Given the description of an element on the screen output the (x, y) to click on. 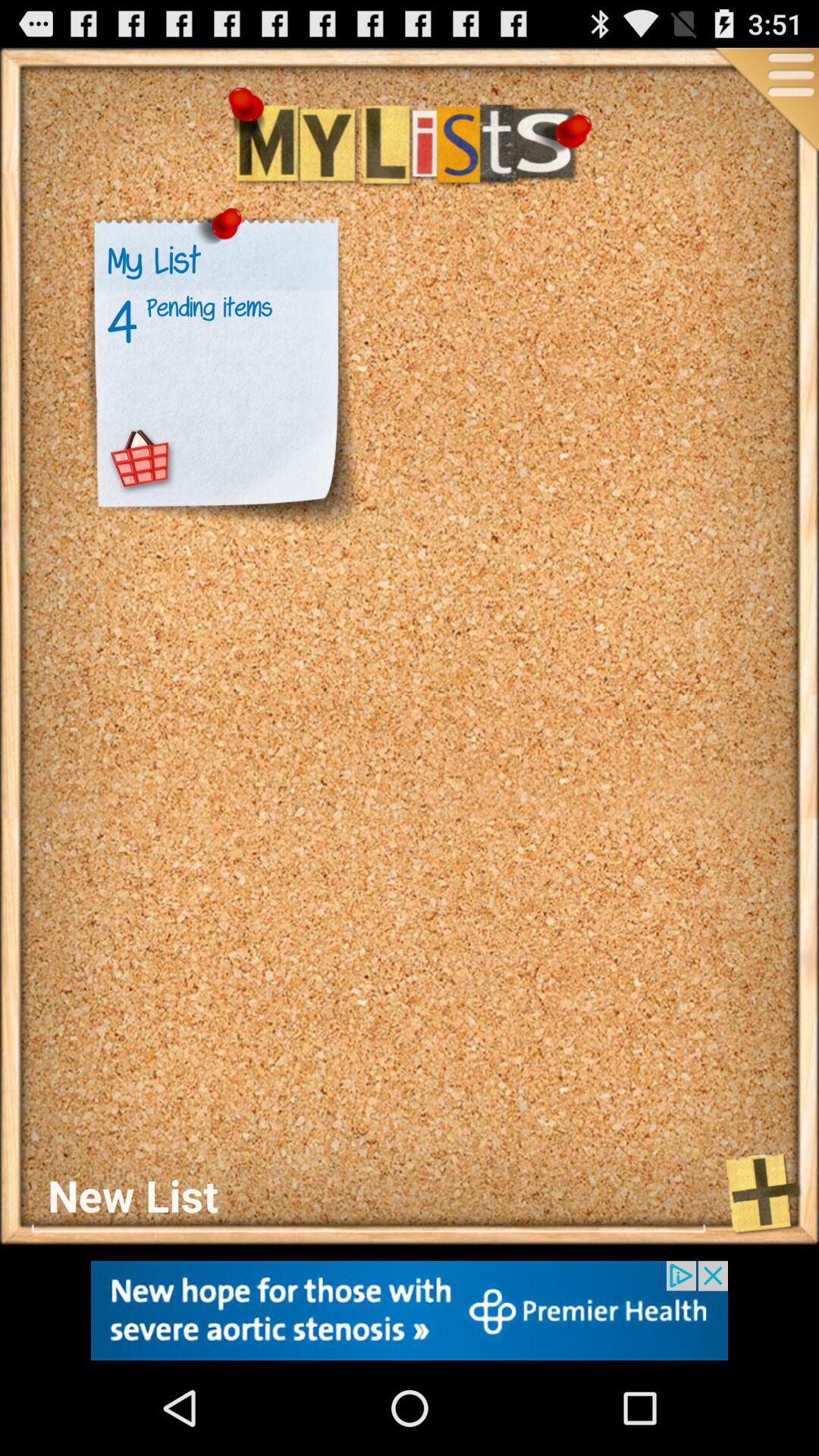
slecet to create new list (368, 1195)
